Given the description of an element on the screen output the (x, y) to click on. 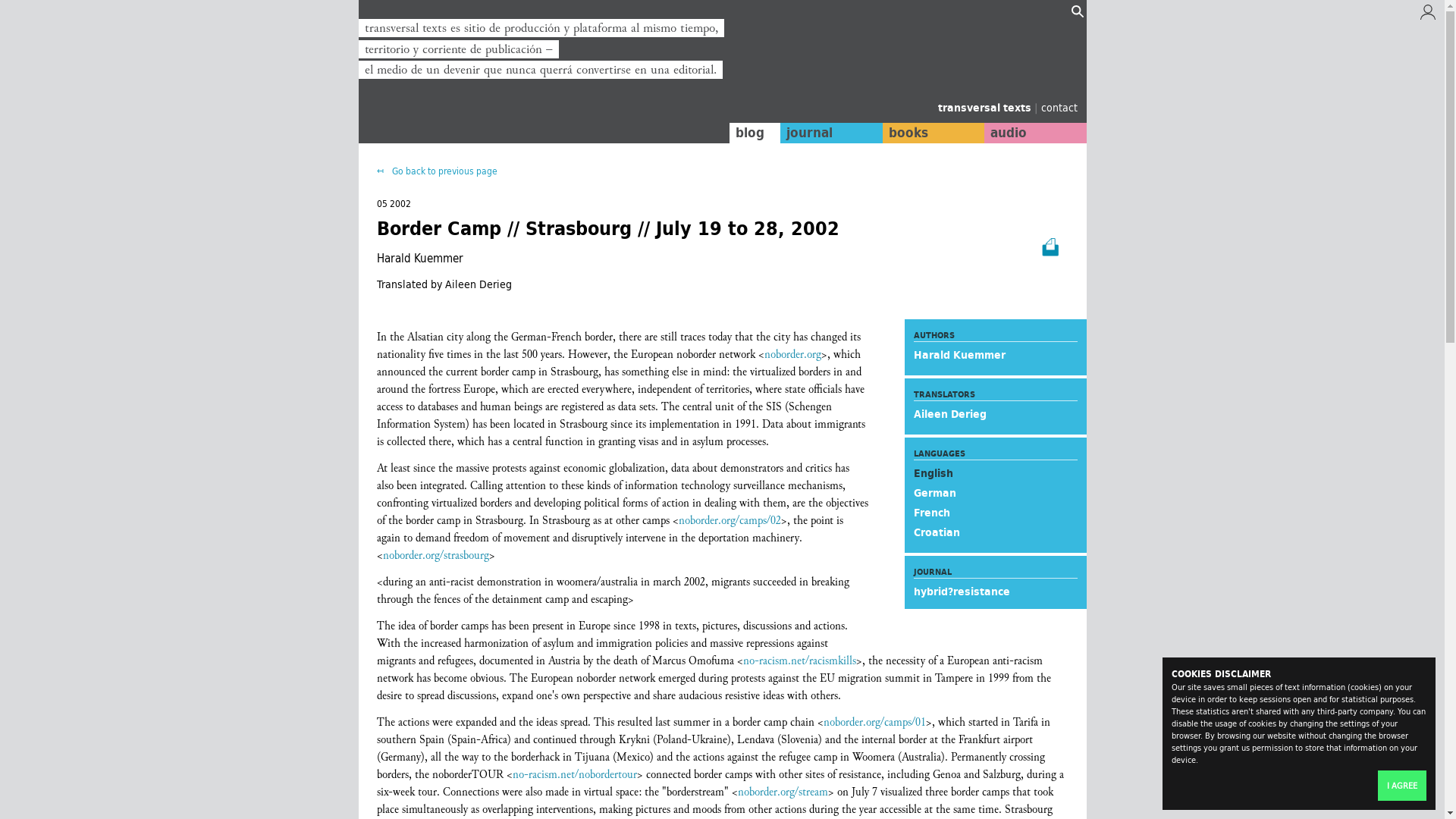
books (933, 132)
audio (1035, 132)
contact (1059, 107)
Go back to previous page (435, 170)
German (933, 492)
I AGREE (1401, 785)
French (930, 512)
Aileen Derieg (948, 413)
hybrid?resistance (960, 591)
transversal texts (985, 107)
